Given the description of an element on the screen output the (x, y) to click on. 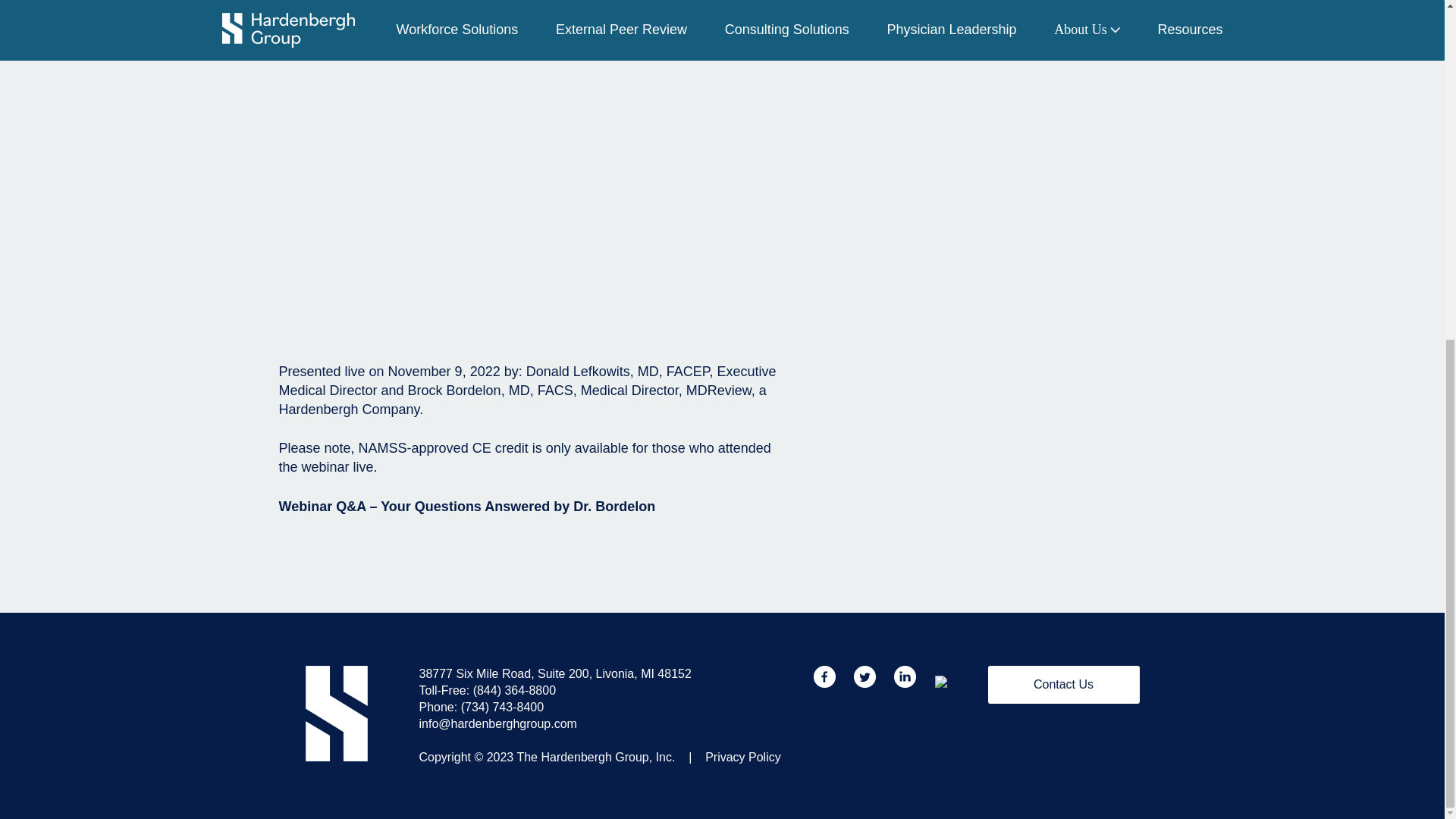
Contact Us (1062, 684)
Privacy Policy (742, 757)
